Given the description of an element on the screen output the (x, y) to click on. 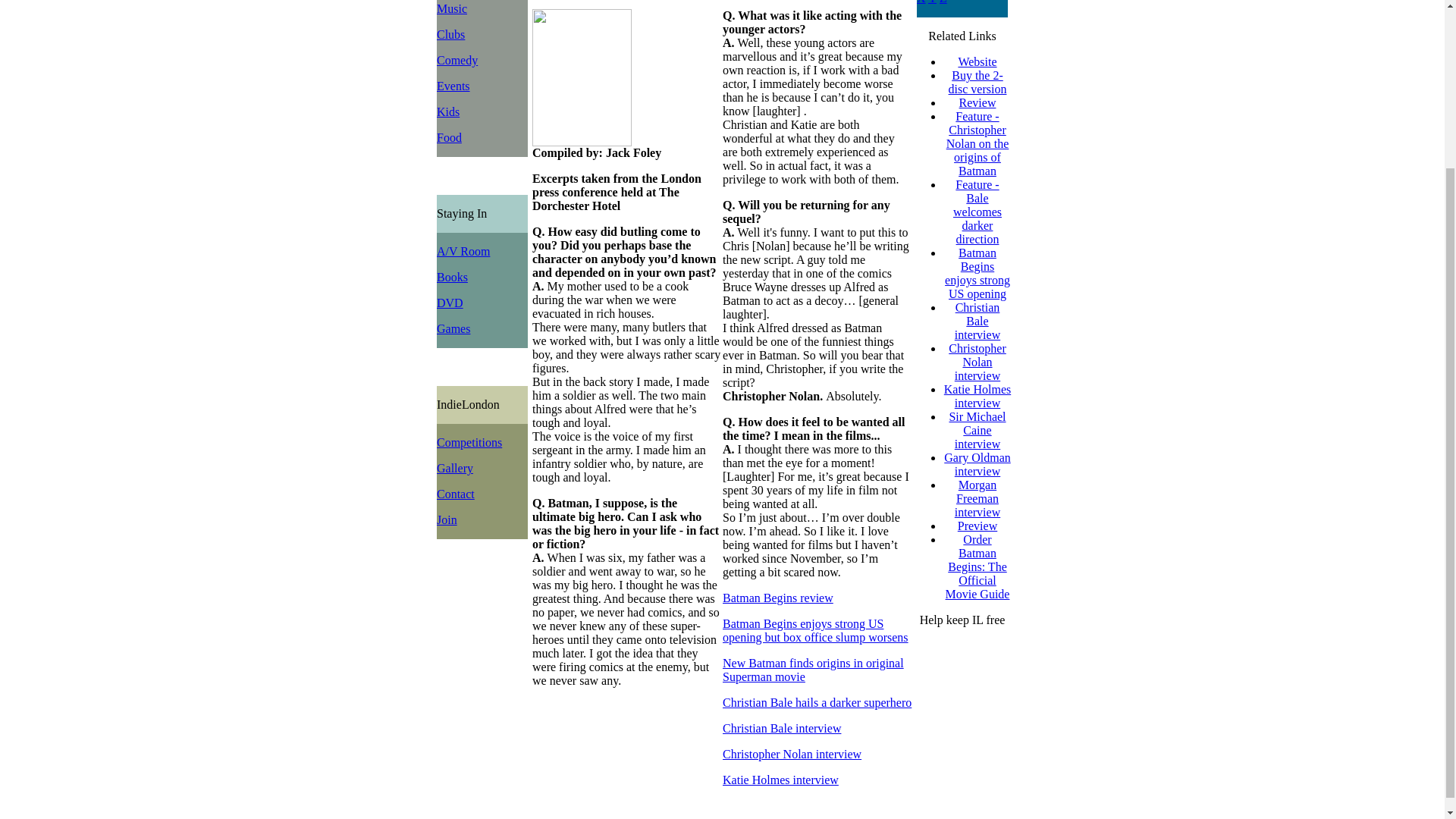
Music (451, 8)
Gallery (454, 468)
Games (453, 328)
Kids (448, 111)
Christian Bale interview (781, 727)
Christopher Nolan interview (791, 753)
DVD (449, 302)
Join (446, 519)
New Batman finds origins in original Superman movie (813, 669)
Contact (455, 493)
Competitions (469, 441)
Batman Begins review (777, 597)
Clubs (450, 33)
Events (453, 85)
